Given the description of an element on the screen output the (x, y) to click on. 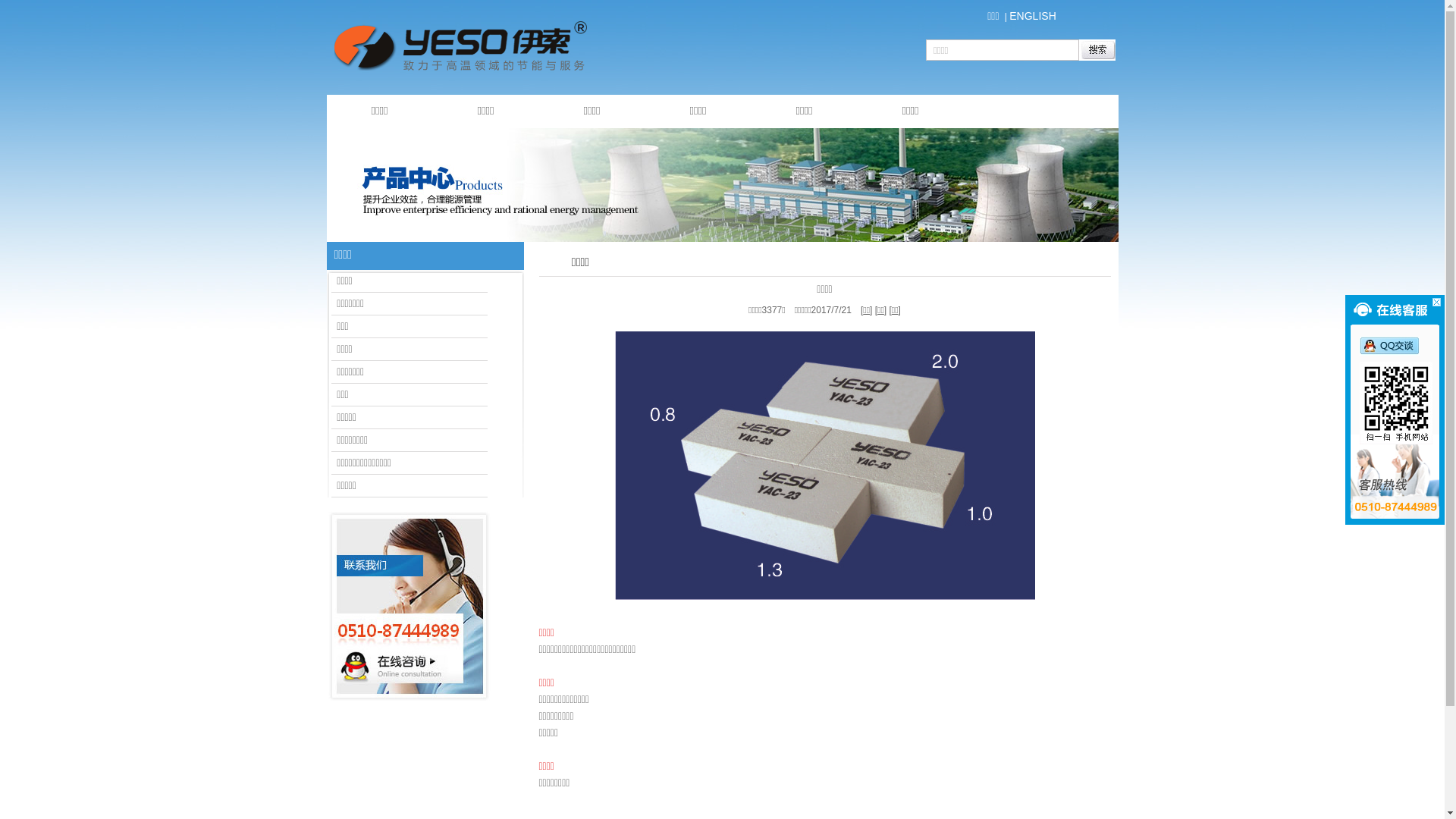
ENGLISH Element type: text (1032, 15)
  Element type: text (721, 184)
